Given the description of an element on the screen output the (x, y) to click on. 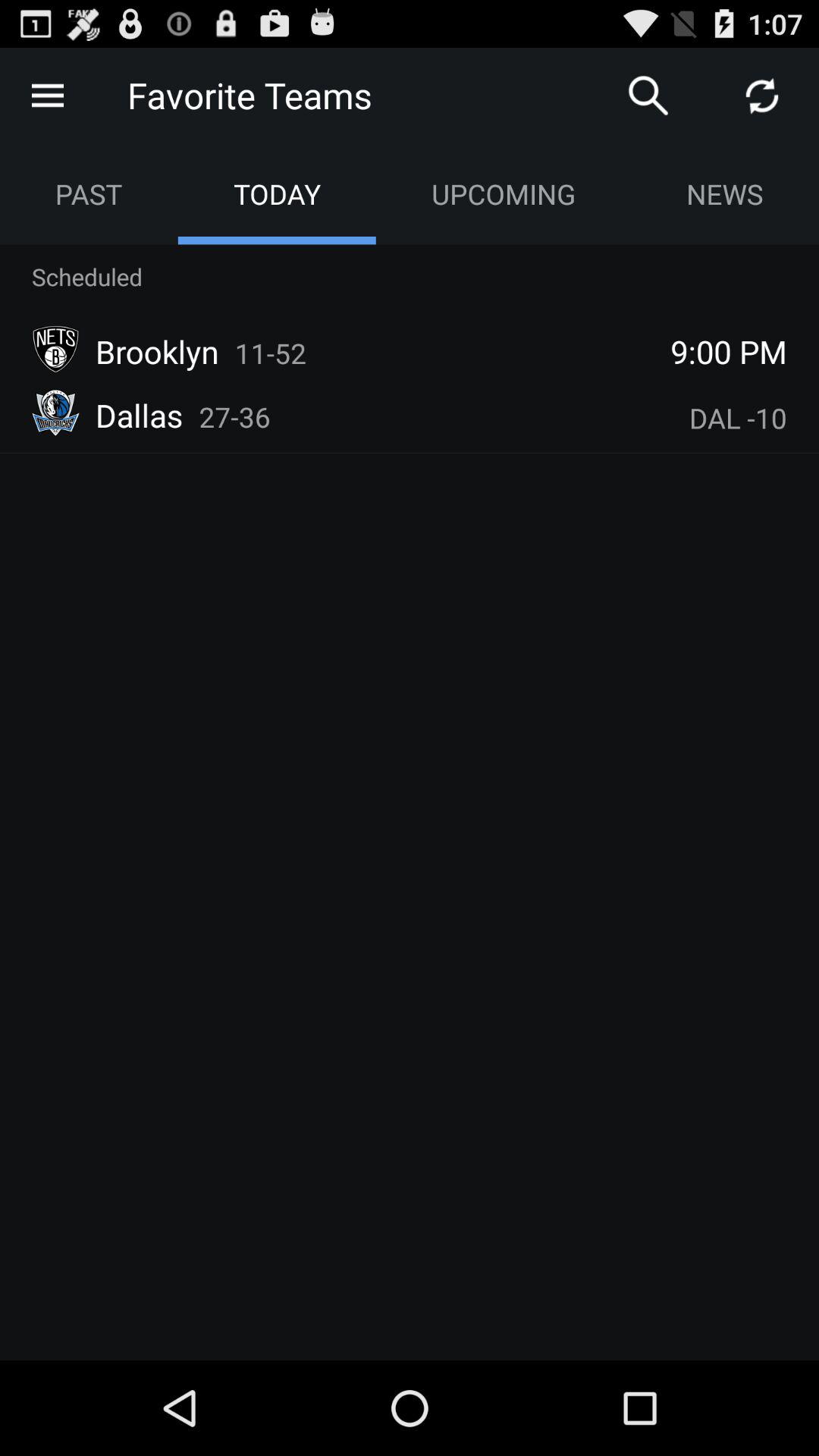
press the icon below the brooklyn icon (234, 416)
